Given the description of an element on the screen output the (x, y) to click on. 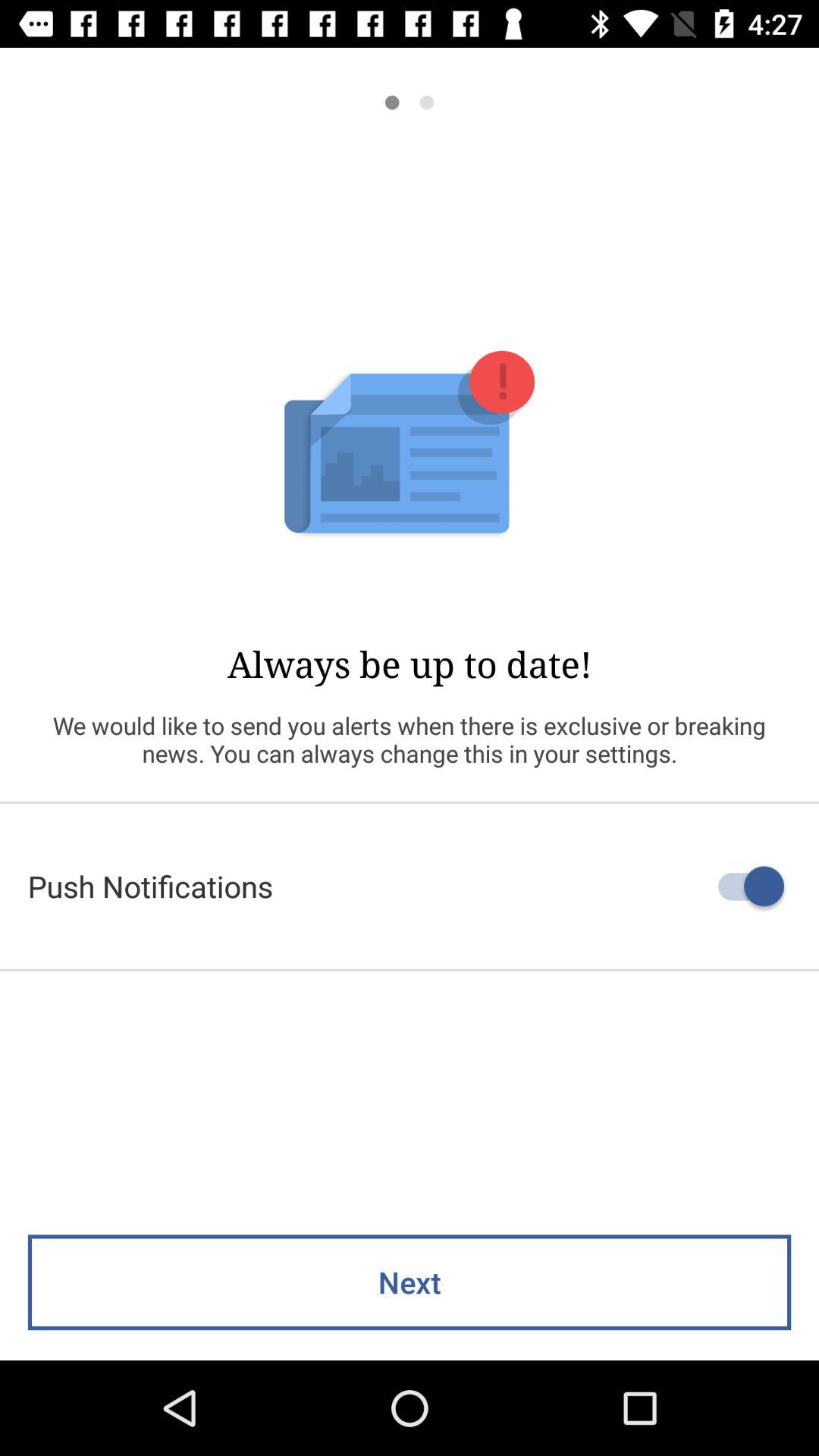
swipe to push notifications (409, 886)
